Given the description of an element on the screen output the (x, y) to click on. 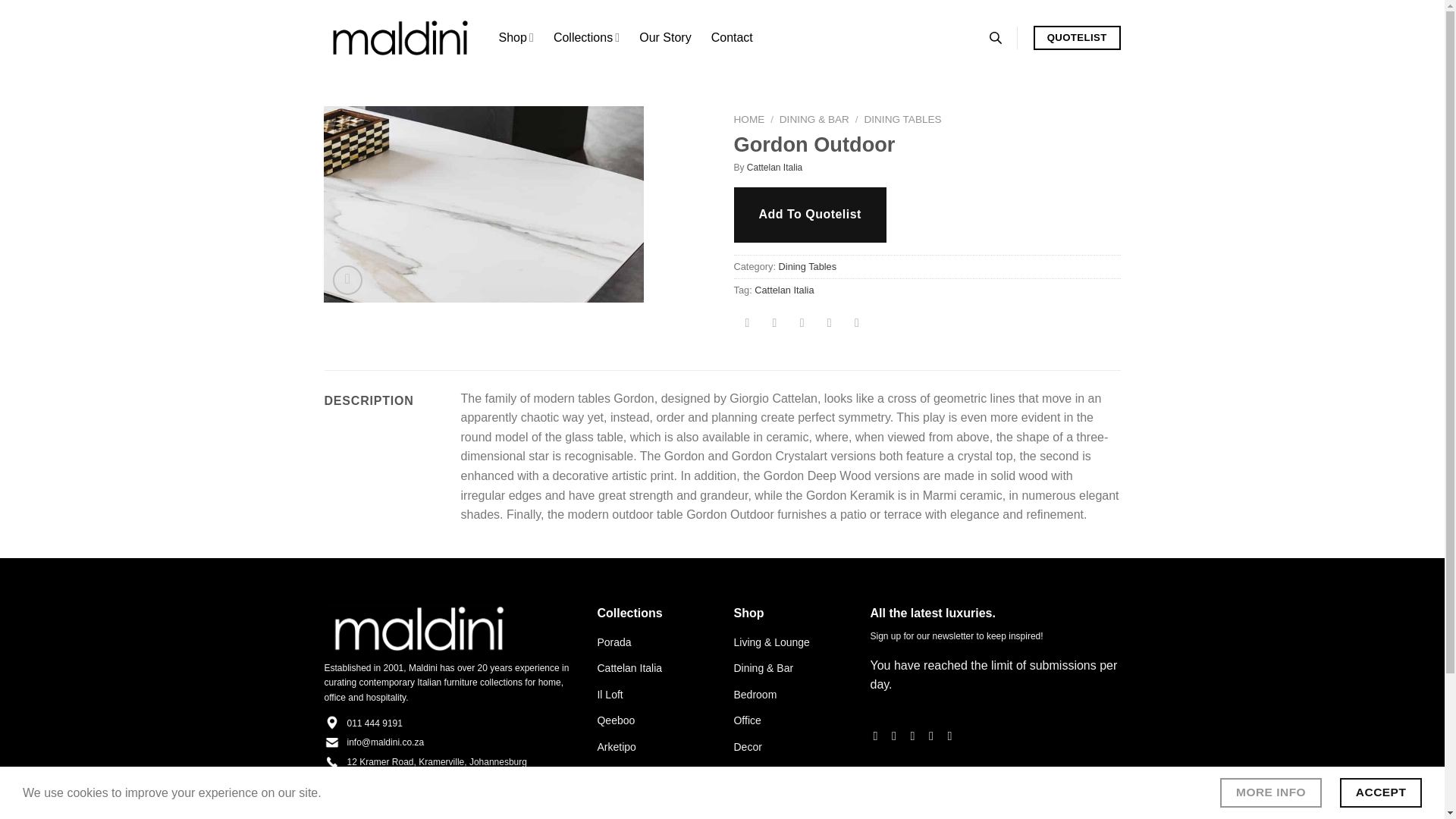
Maldini - Contemporary Italian Furniture (400, 38)
Our Story (664, 37)
Shop (516, 37)
Email to a Friend (801, 324)
Pin on Pinterest (828, 324)
Share on Twitter (774, 324)
Share on Facebook (747, 324)
Share on LinkedIn (856, 324)
Collections (586, 37)
Zoom (347, 279)
